Given the description of an element on the screen output the (x, y) to click on. 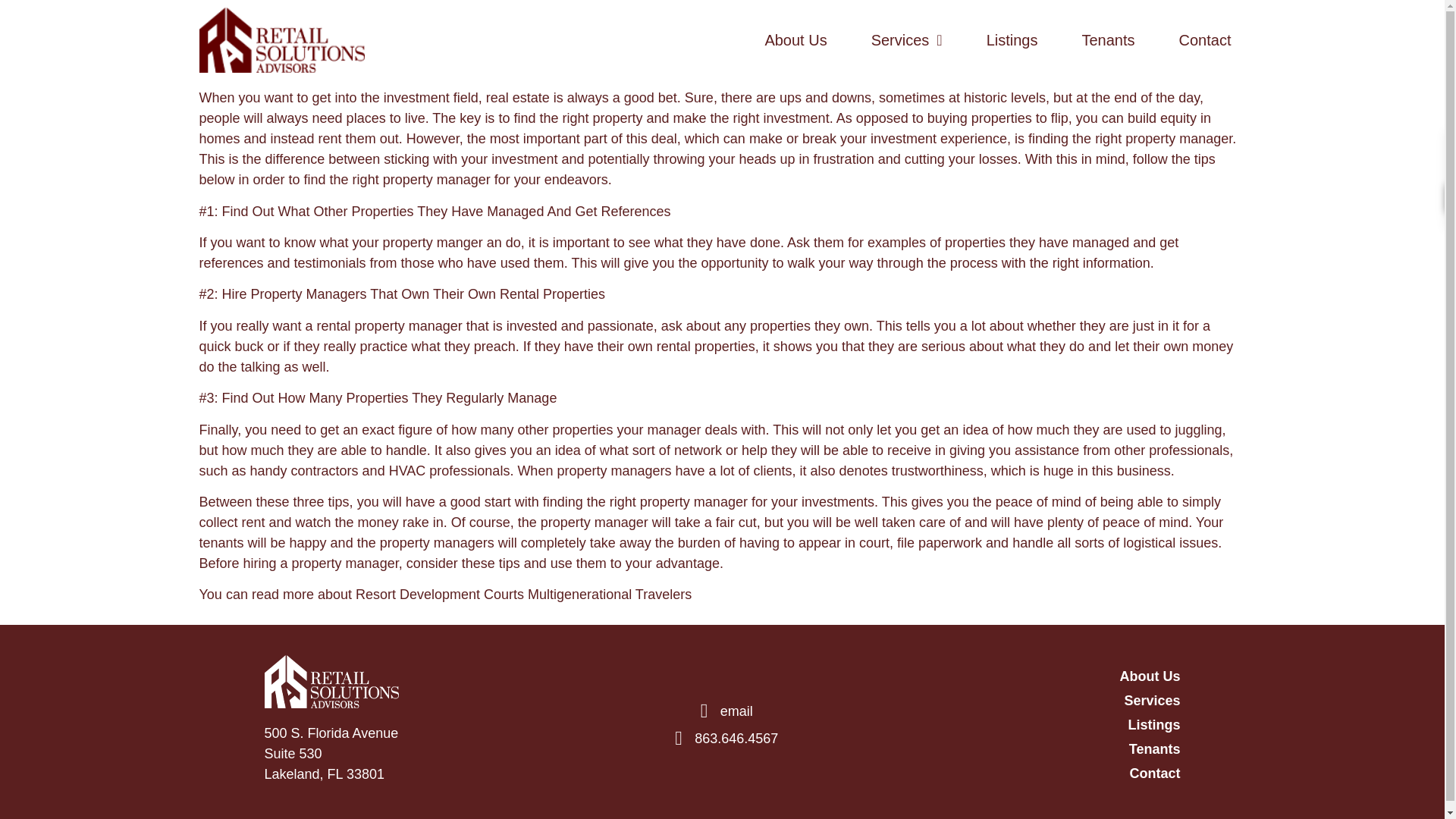
Tenants (1032, 749)
right property manager (1162, 138)
About Us (1032, 676)
Resort Development Courts Multigenerational Travelers (523, 594)
863.646.4567 (722, 738)
email (722, 711)
Services (1032, 701)
Contact (1032, 773)
About Us (795, 40)
Listings (1012, 40)
